Given the description of an element on the screen output the (x, y) to click on. 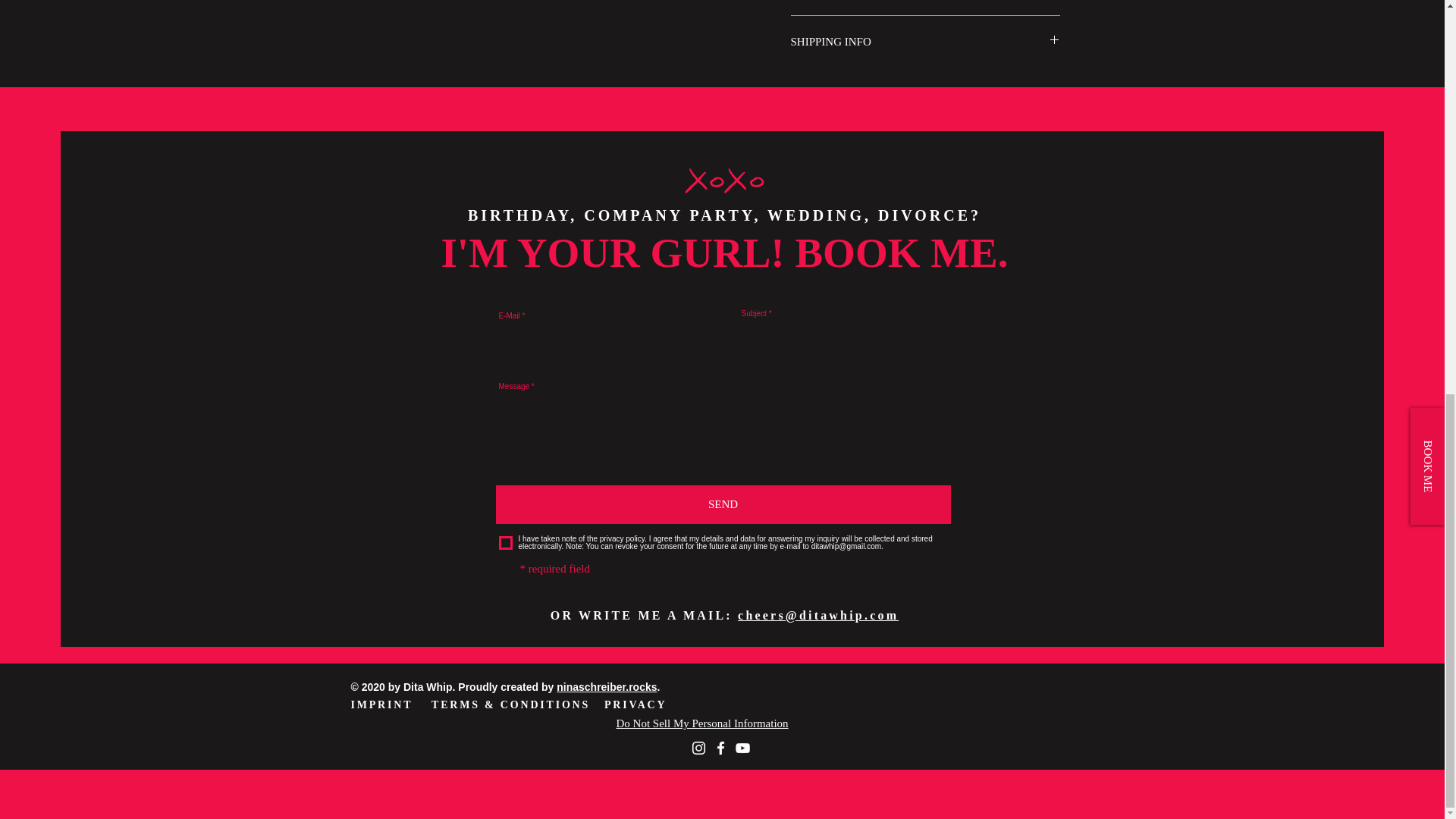
IMPRINT (381, 704)
PRIVACY (635, 704)
SEND (723, 504)
ninaschreiber.rocks (606, 686)
Do Not Sell My Personal Information (701, 723)
SHIPPING INFO (924, 41)
